Given the description of an element on the screen output the (x, y) to click on. 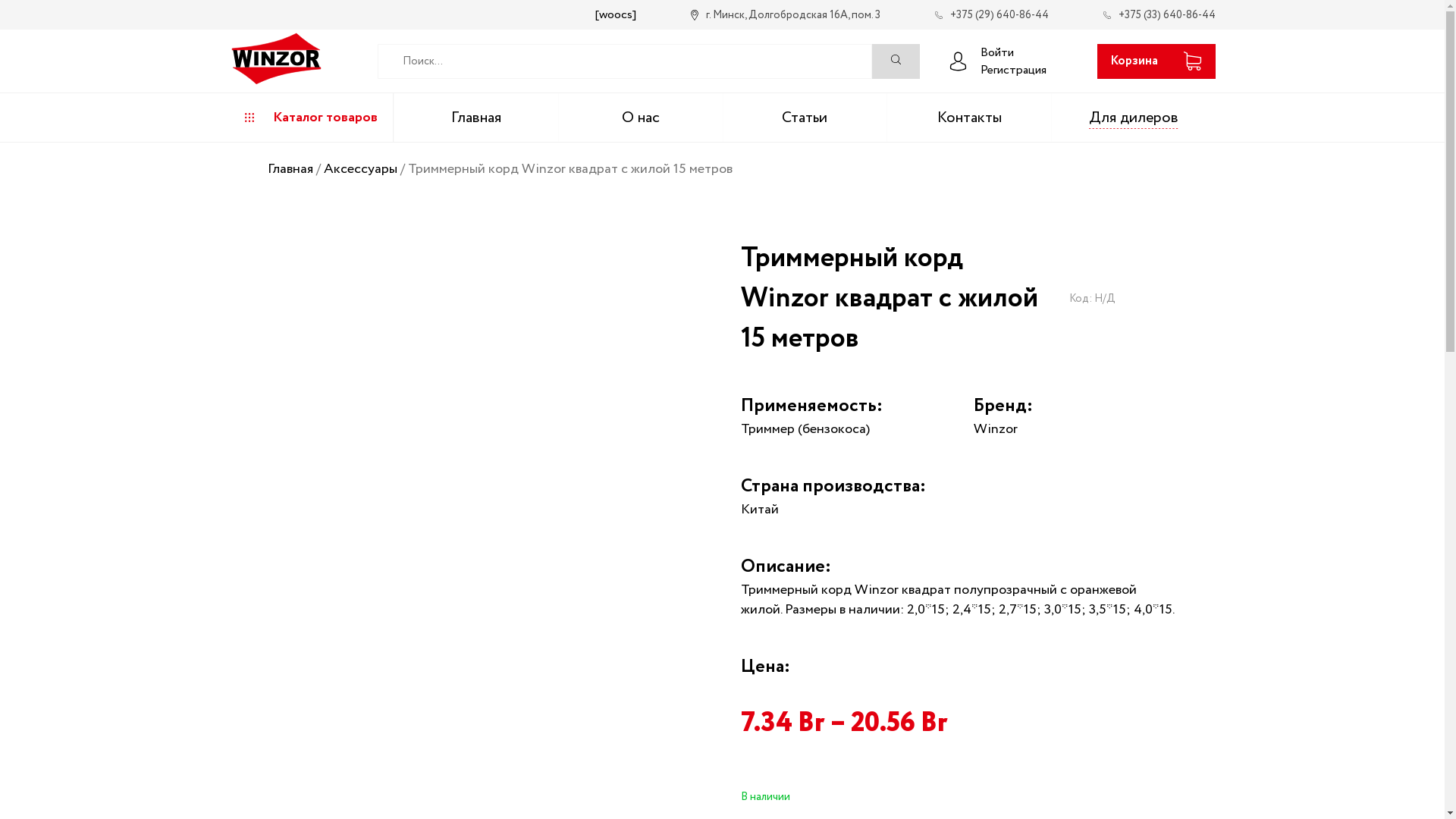
+375 (29) 640-86-44 Element type: text (991, 14)
+375 (33) 640-86-44 Element type: text (1158, 14)
